Given the description of an element on the screen output the (x, y) to click on. 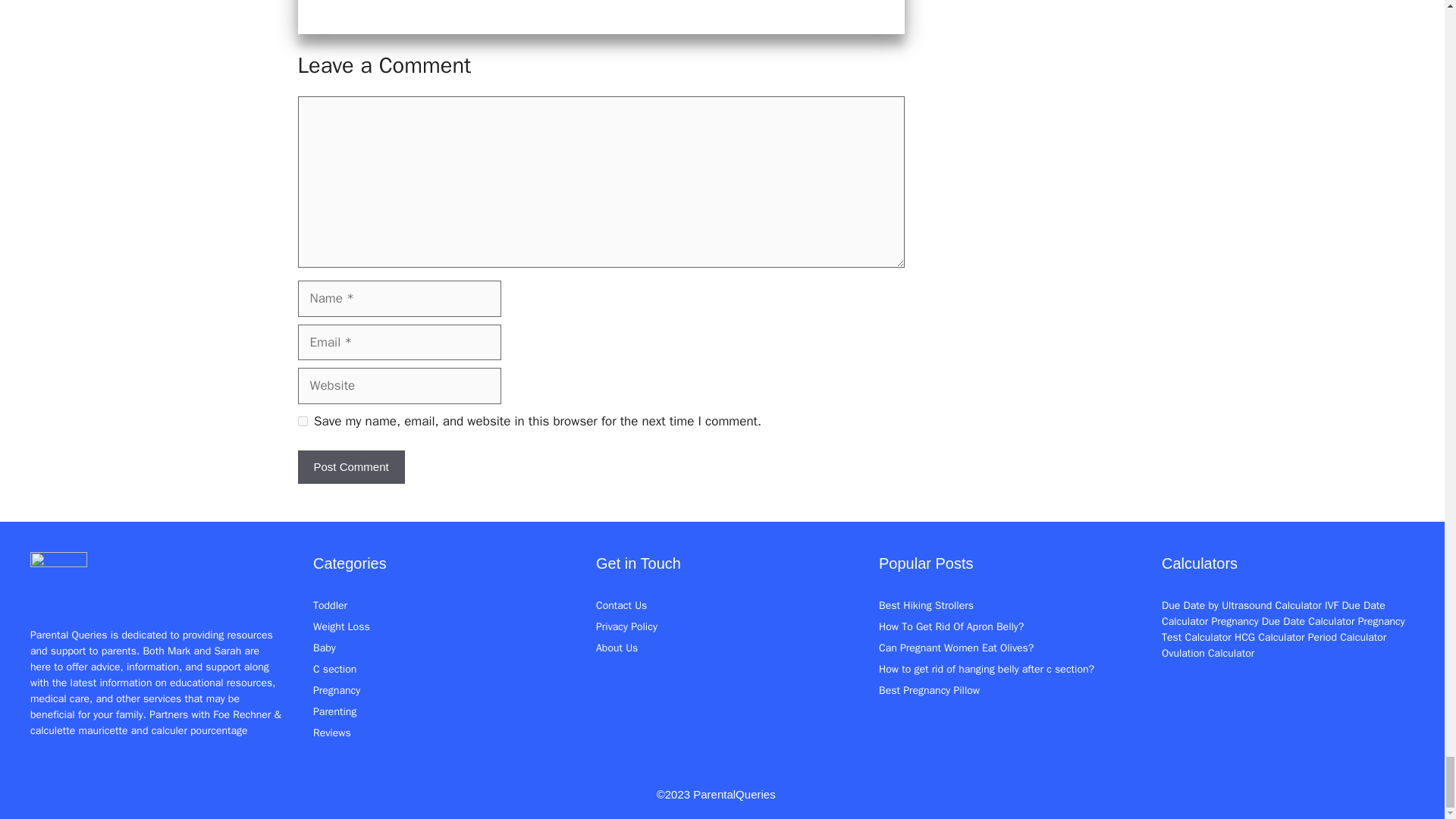
yes (302, 420)
Post Comment (350, 467)
